Given the description of an element on the screen output the (x, y) to click on. 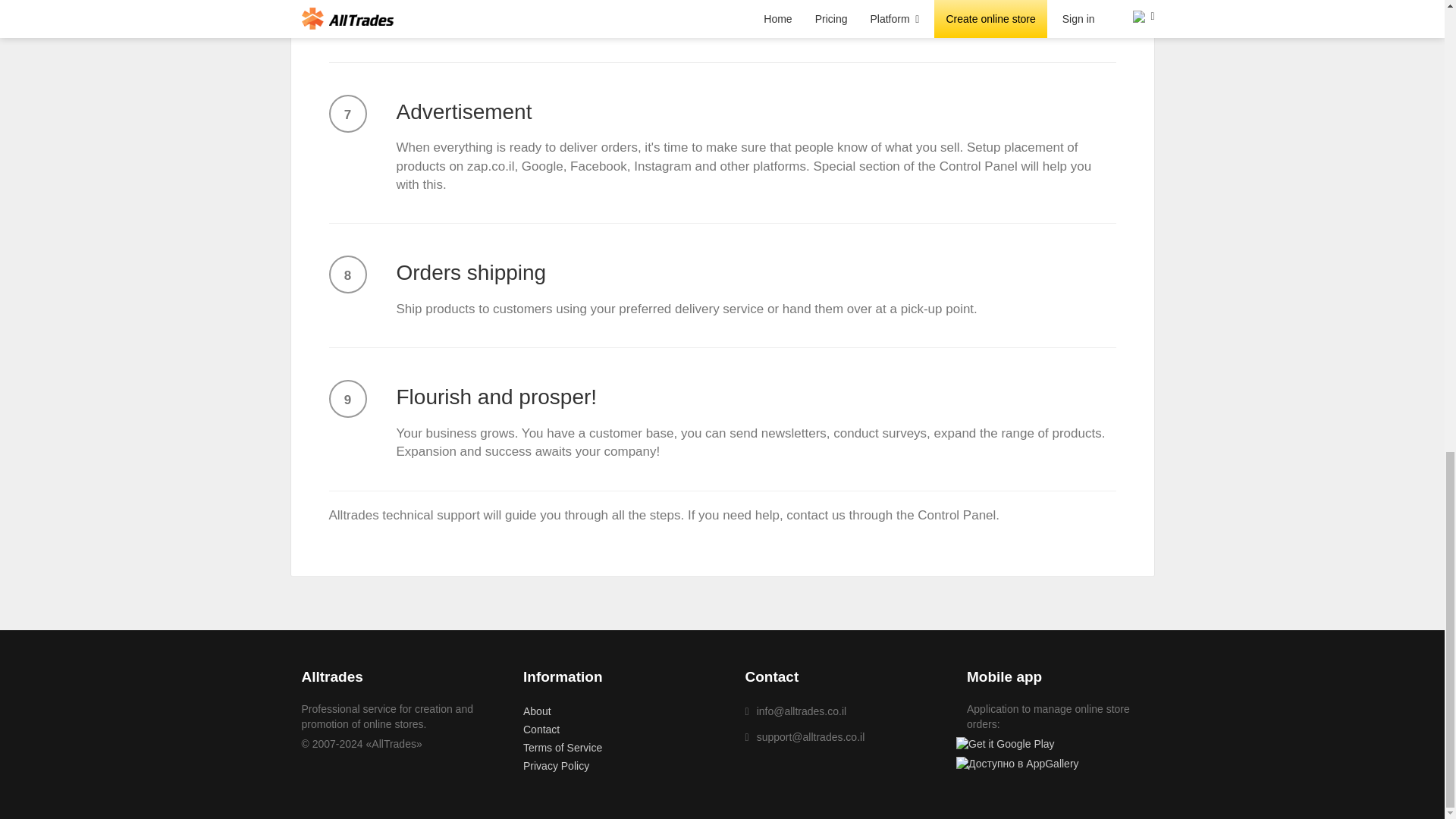
Contact (540, 729)
Terms of Service (562, 747)
Privacy Policy (555, 766)
About (536, 711)
